Given the description of an element on the screen output the (x, y) to click on. 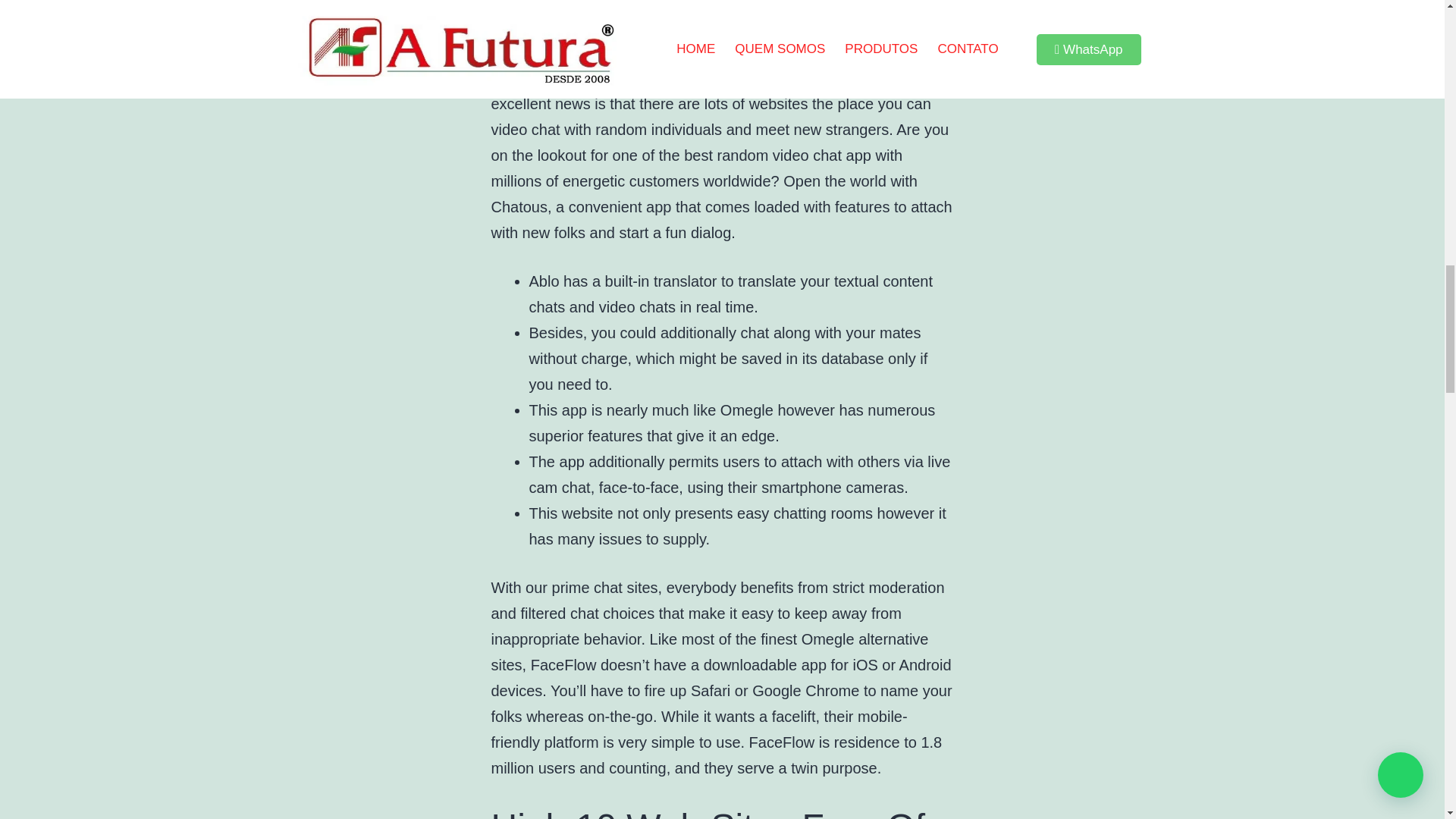
chathun (805, 77)
